Given the description of an element on the screen output the (x, y) to click on. 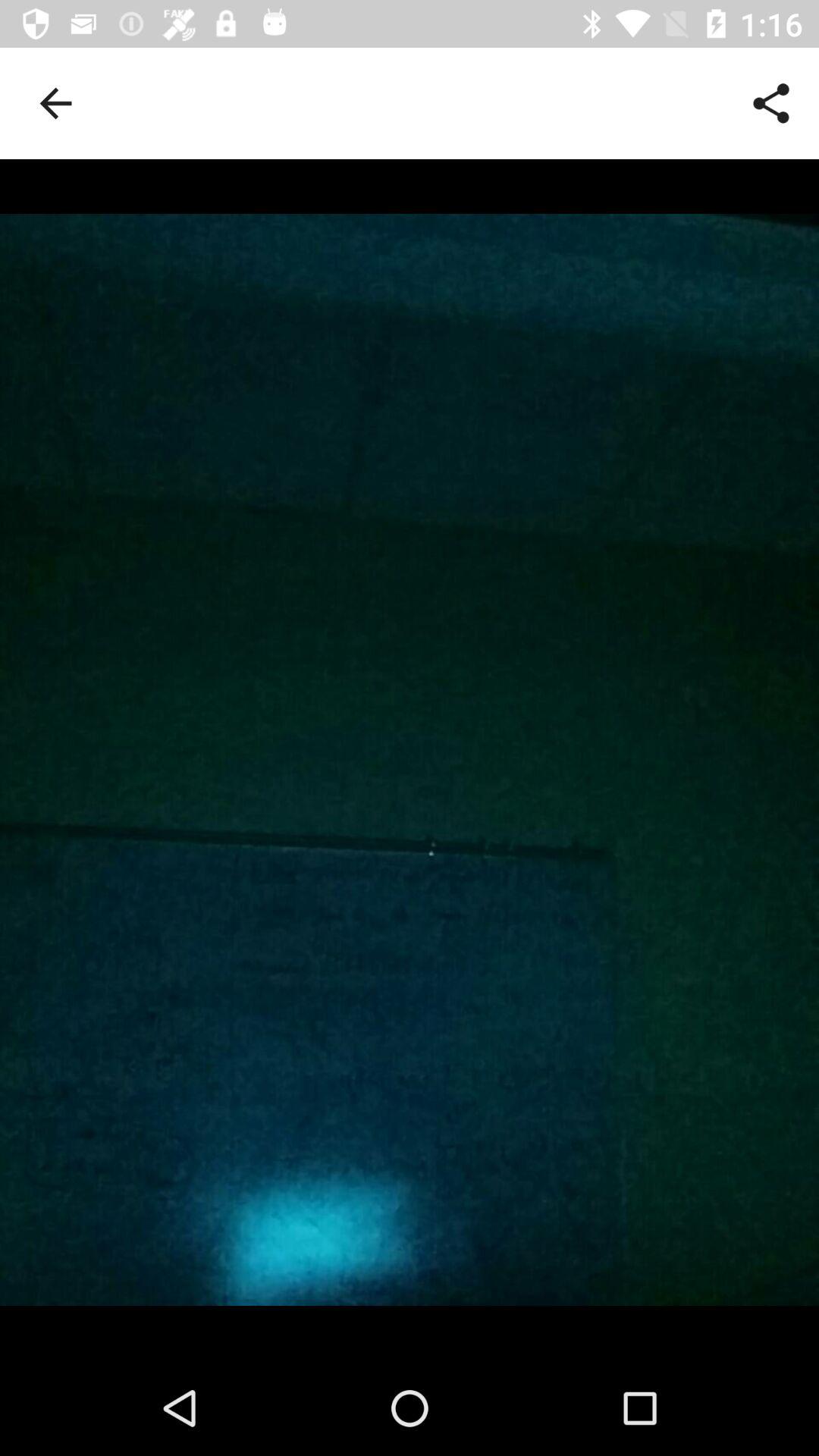
choose item at the top left corner (55, 103)
